Given the description of an element on the screen output the (x, y) to click on. 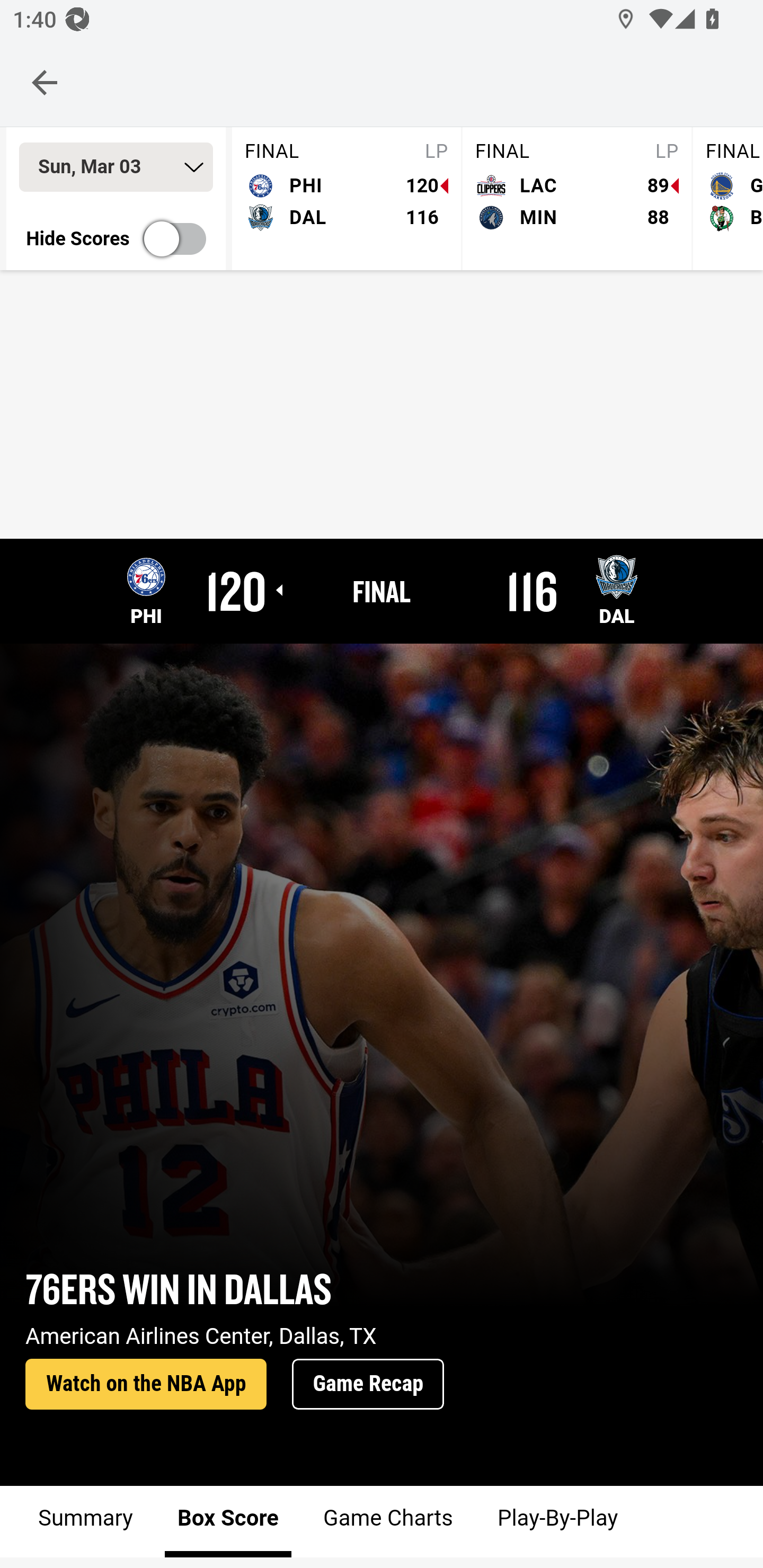
Navigate up (44, 82)
Sun, Mar 03 (115, 166)
Watch on the NBA App (146, 1384)
Game Recap (367, 1384)
Summary Summary Summary (85, 1521)
Box Score Box Score Box Score (228, 1521)
Game Charts Game Charts Game Charts (387, 1521)
Play-By-Play Play-By-Play Play-By-Play (556, 1521)
